Given the description of an element on the screen output the (x, y) to click on. 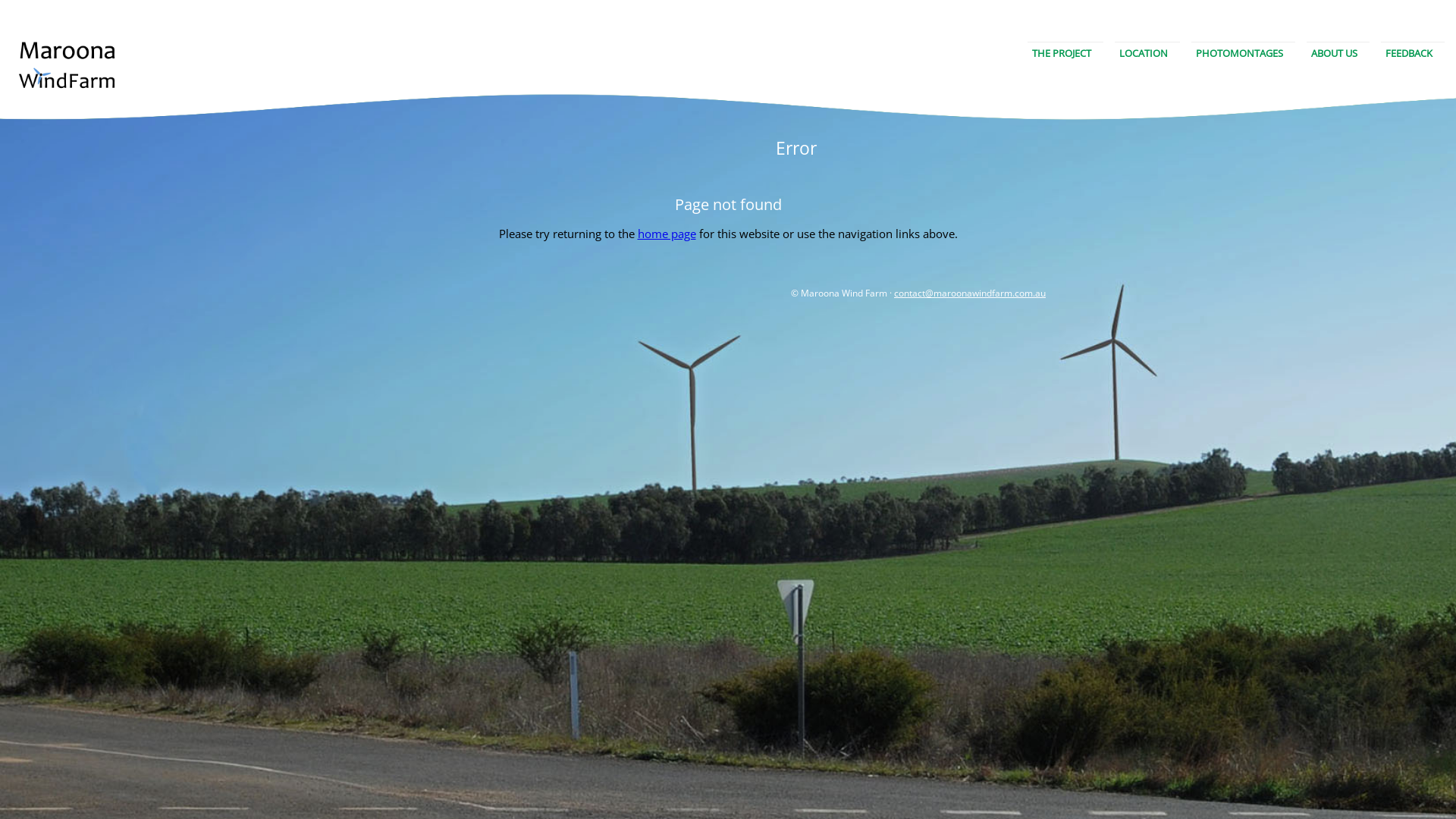
LOCATION Element type: text (1143, 53)
THE PROJECT Element type: text (1061, 53)
PHOTOMONTAGES Element type: text (1239, 53)
contact@maroonawindfarm.com.au Element type: text (969, 292)
home page Element type: text (666, 233)
ABOUT US Element type: text (1333, 53)
FEEDBACK Element type: text (1408, 53)
